Given the description of an element on the screen output the (x, y) to click on. 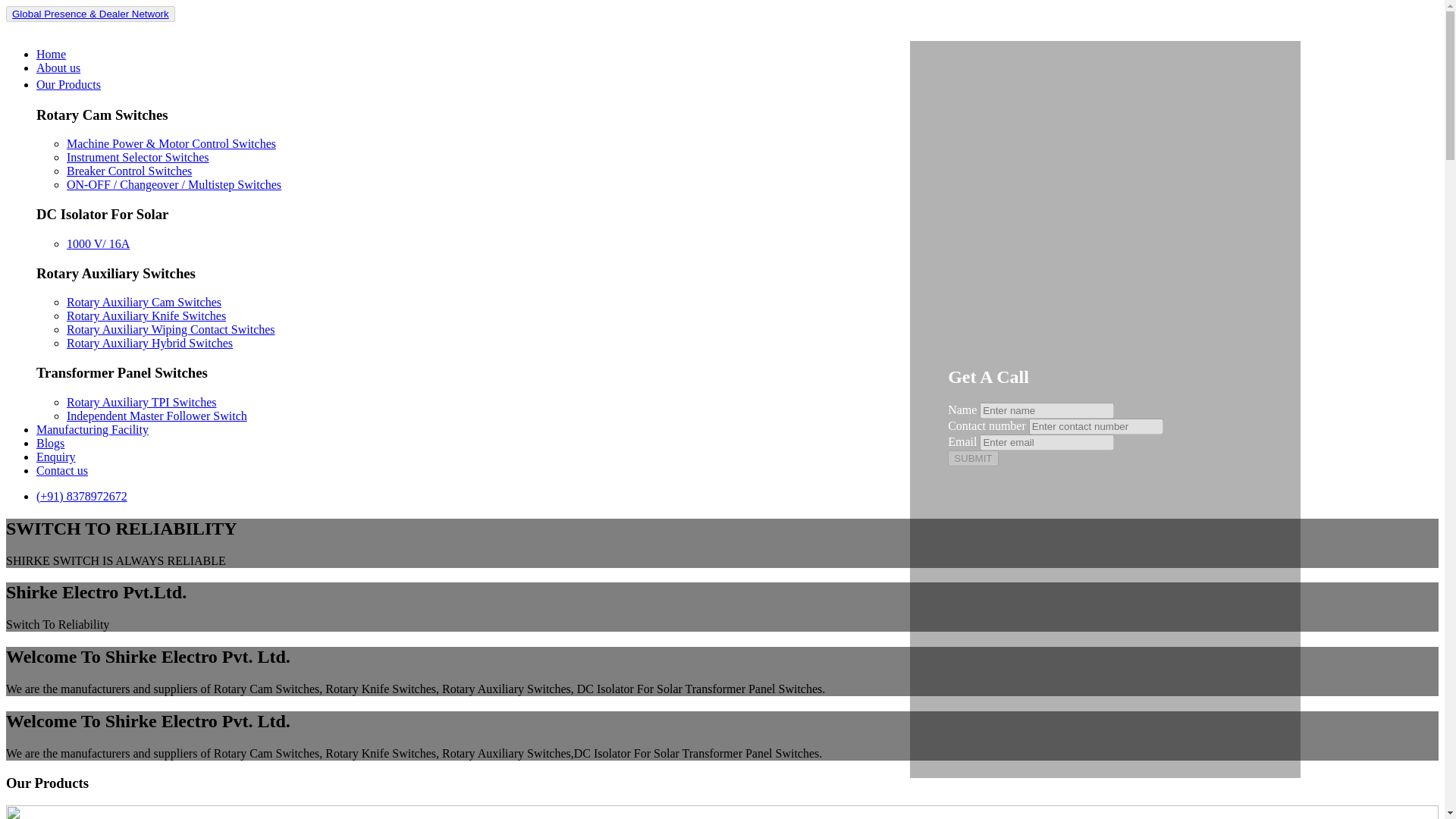
Rotary Auxiliary Knife Switches (145, 315)
Rotary Auxiliary Wiping Contact Switches (170, 328)
Contact us (61, 470)
Manufacturing Facility (92, 429)
SUBMIT (972, 458)
Our Products (70, 83)
Rotary Auxiliary Hybrid Switches (149, 342)
Rotary Auxiliary TPI Switches (140, 401)
Blogs (50, 442)
Breaker Control Switches (129, 170)
About us (58, 67)
Rotary Auxiliary Cam Switches (143, 301)
Enquiry (55, 456)
Instrument Selector Switches (137, 156)
Home (50, 53)
